Given the description of an element on the screen output the (x, y) to click on. 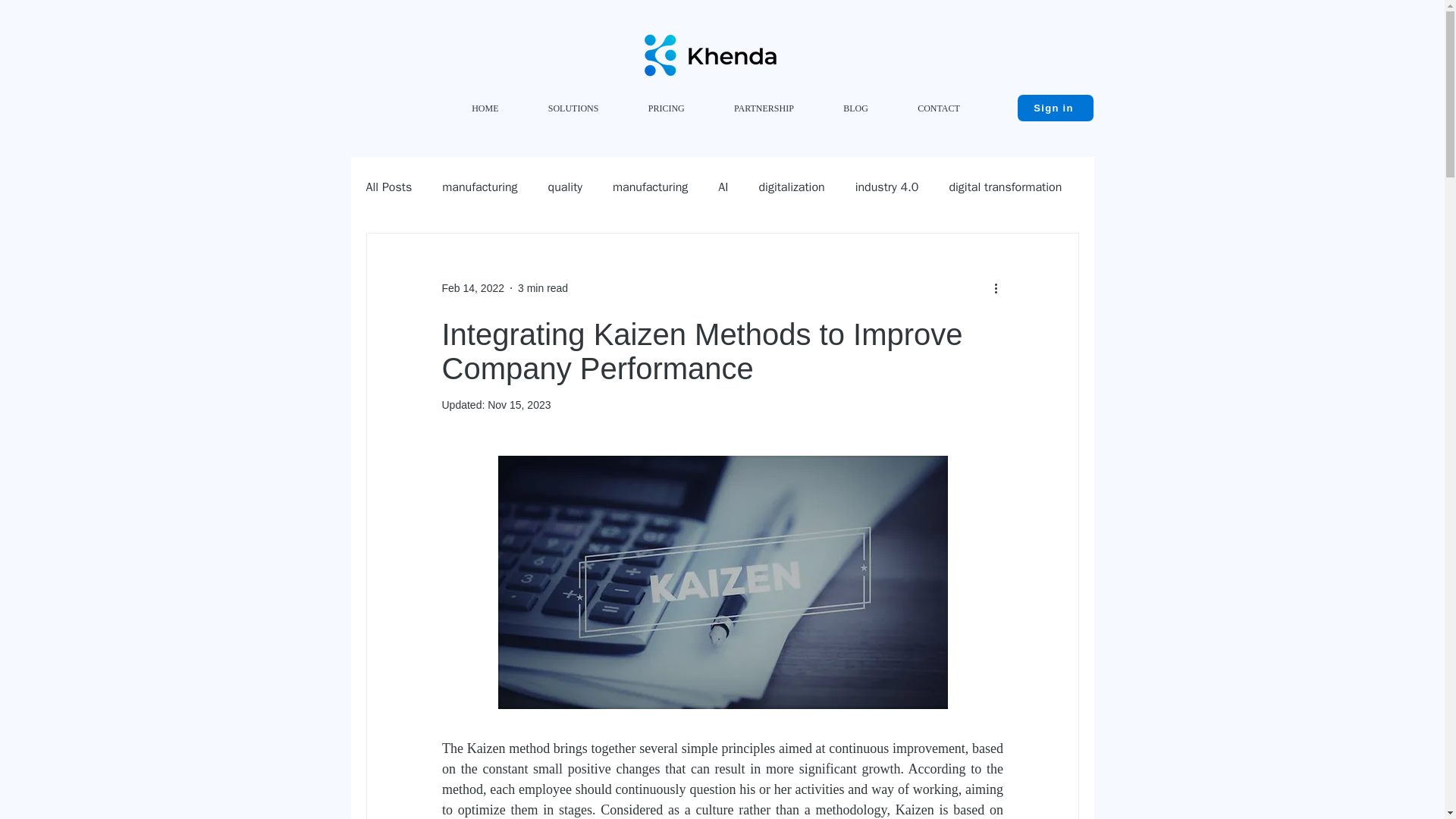
Nov 15, 2023 (518, 404)
Sign in (1055, 108)
Feb 14, 2022 (472, 287)
manufacturing (479, 186)
HOME (484, 108)
digital transformation (1005, 186)
PRICING (665, 108)
industry 4.0 (887, 186)
BLOG (855, 108)
CONTACT (937, 108)
